Given the description of an element on the screen output the (x, y) to click on. 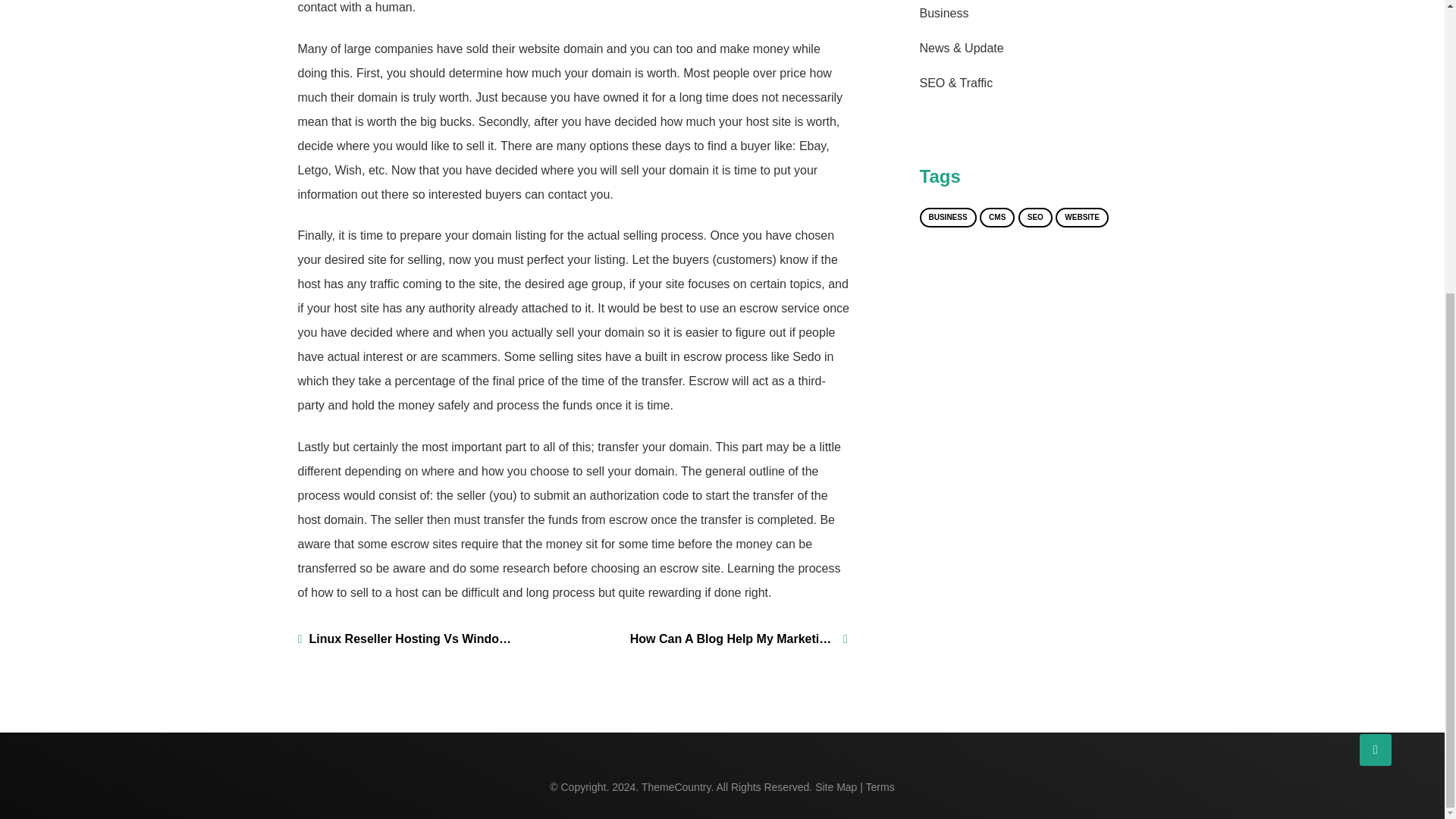
Terms (880, 787)
CMS (996, 217)
Business (943, 12)
Linux Reseller Hosting Vs Windows Reseller Hosting (406, 639)
SEO (1034, 217)
How Can A Blog Help My Marketing And SEO? (738, 639)
WEBSITE (1081, 217)
BUSINESS (946, 217)
Site Map (836, 787)
